Given the description of an element on the screen output the (x, y) to click on. 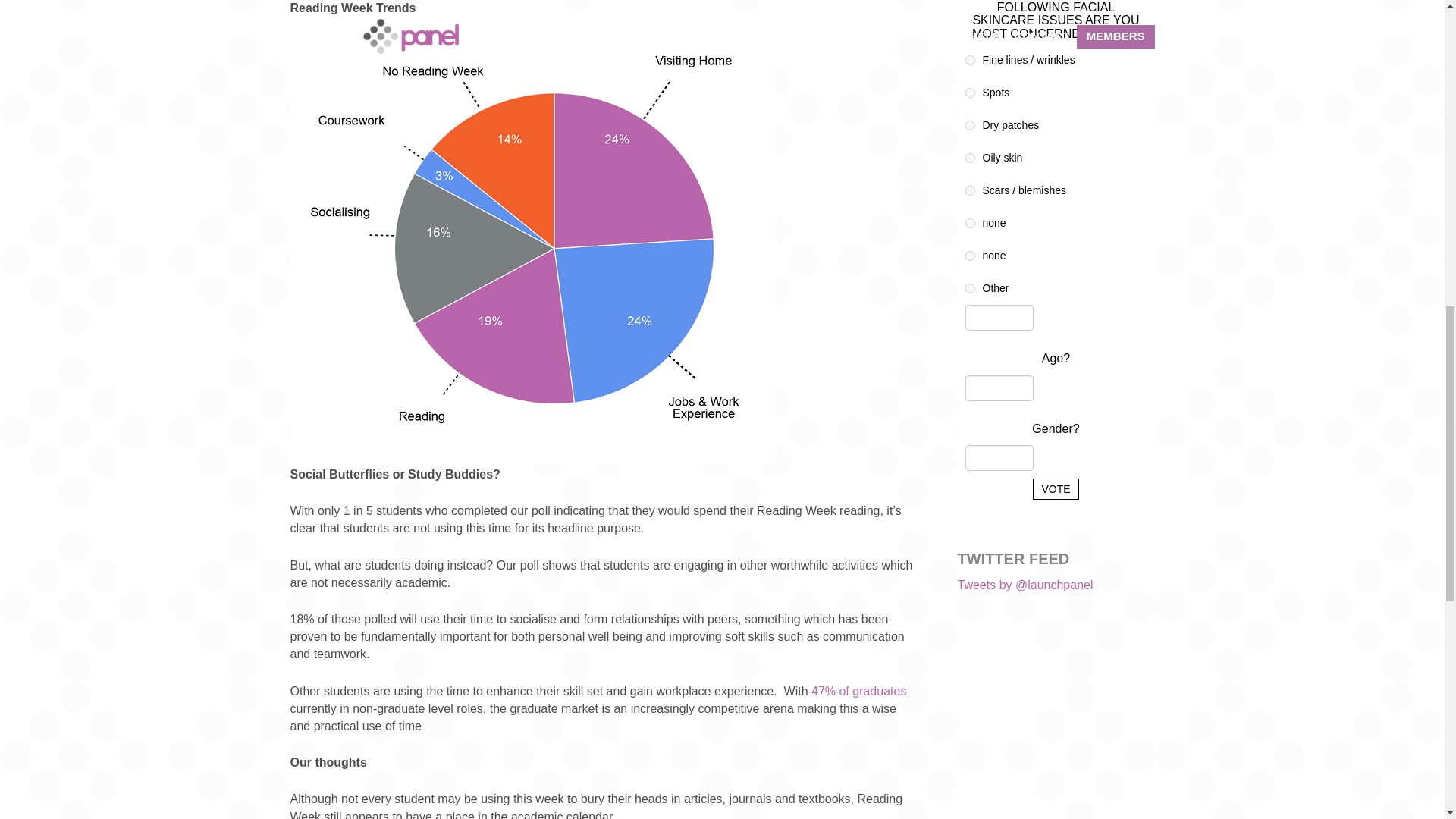
135 (968, 92)
137 (968, 157)
136 (968, 125)
139 (968, 223)
134 (968, 60)
138 (968, 190)
VOTE (1055, 488)
140 (968, 255)
0 (968, 288)
